Given the description of an element on the screen output the (x, y) to click on. 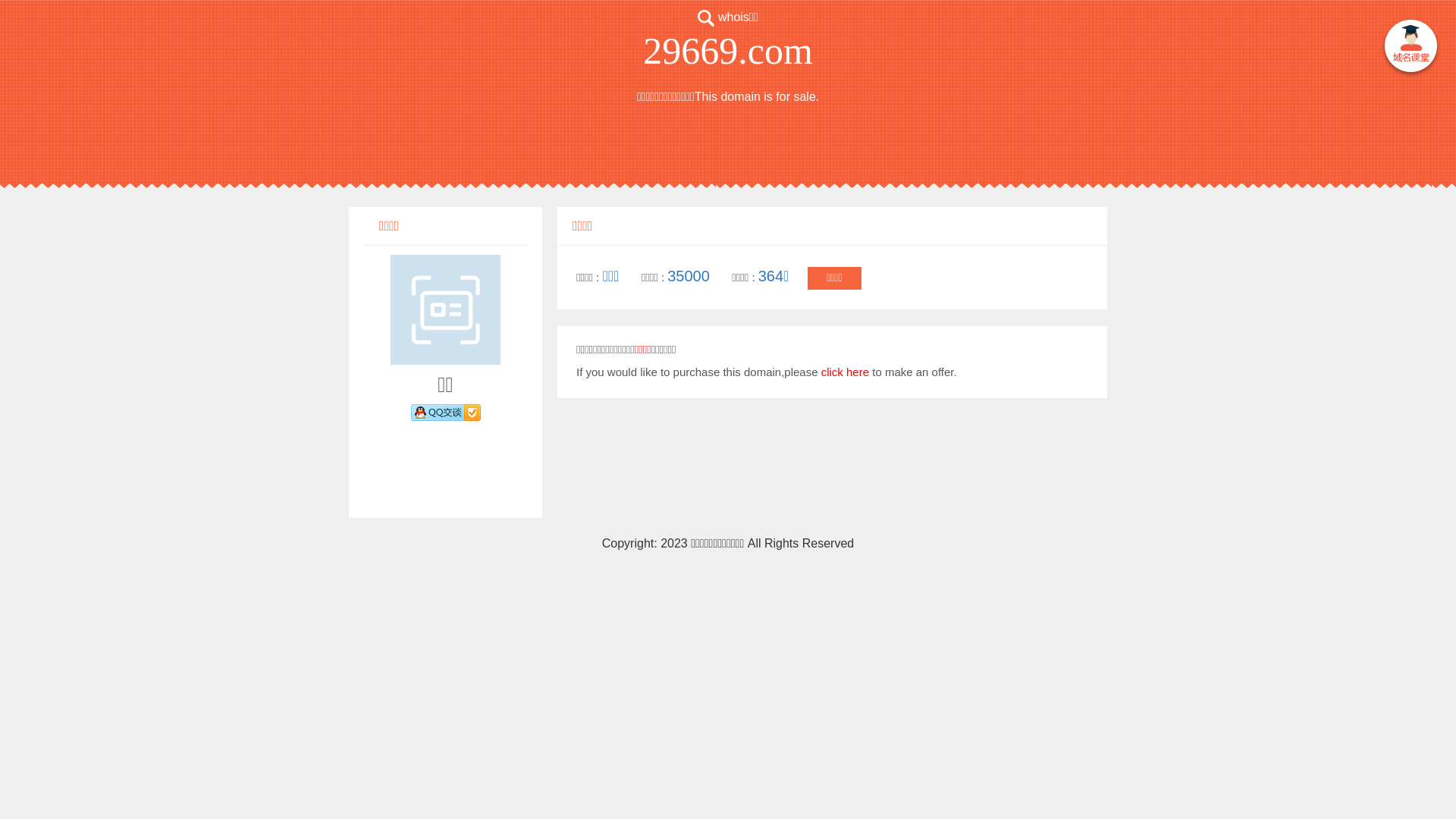
  Element type: text (1410, 48)
click here Element type: text (845, 371)
